Given the description of an element on the screen output the (x, y) to click on. 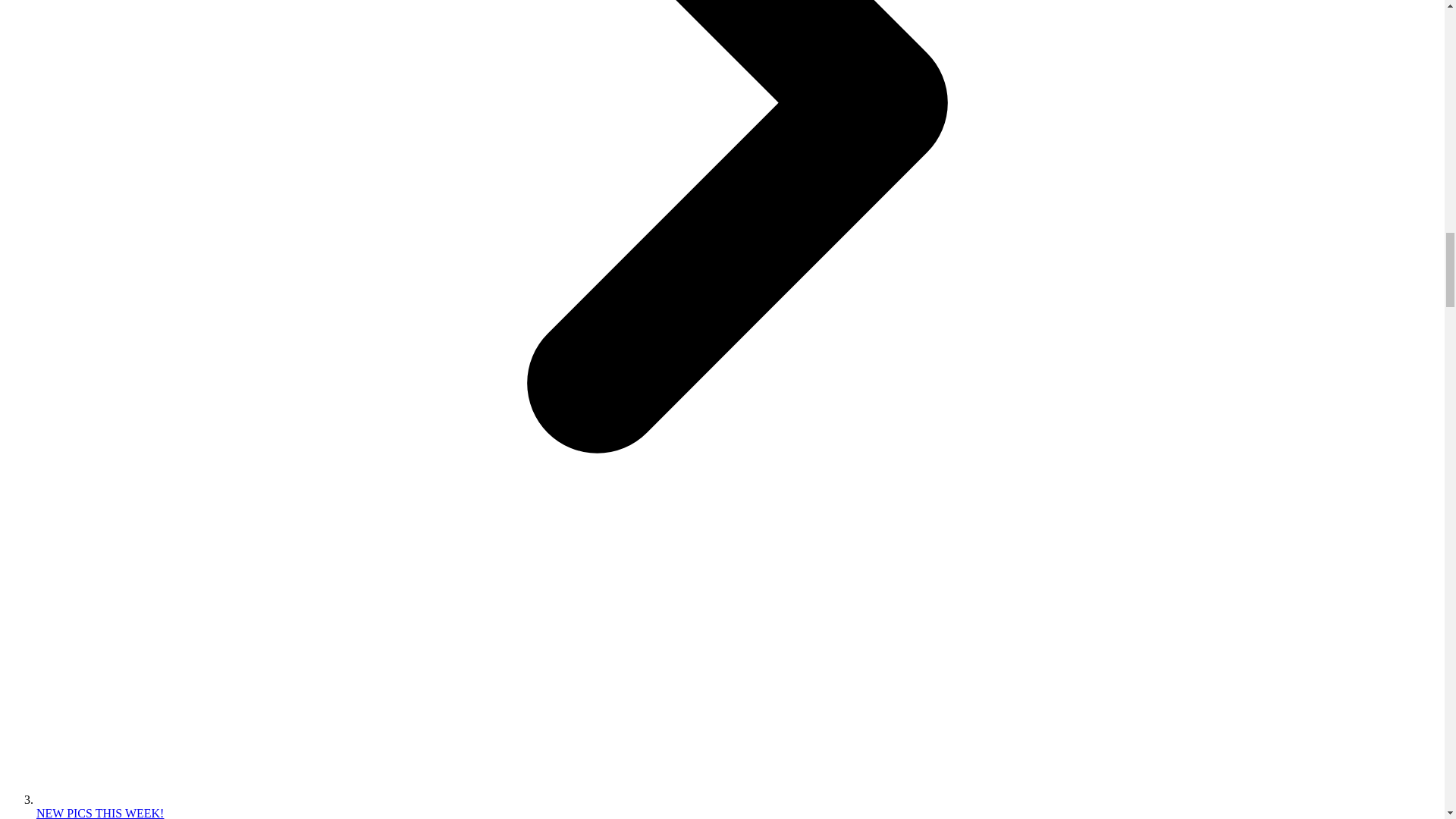
NEW PICS THIS WEEK! (99, 812)
